Given the description of an element on the screen output the (x, y) to click on. 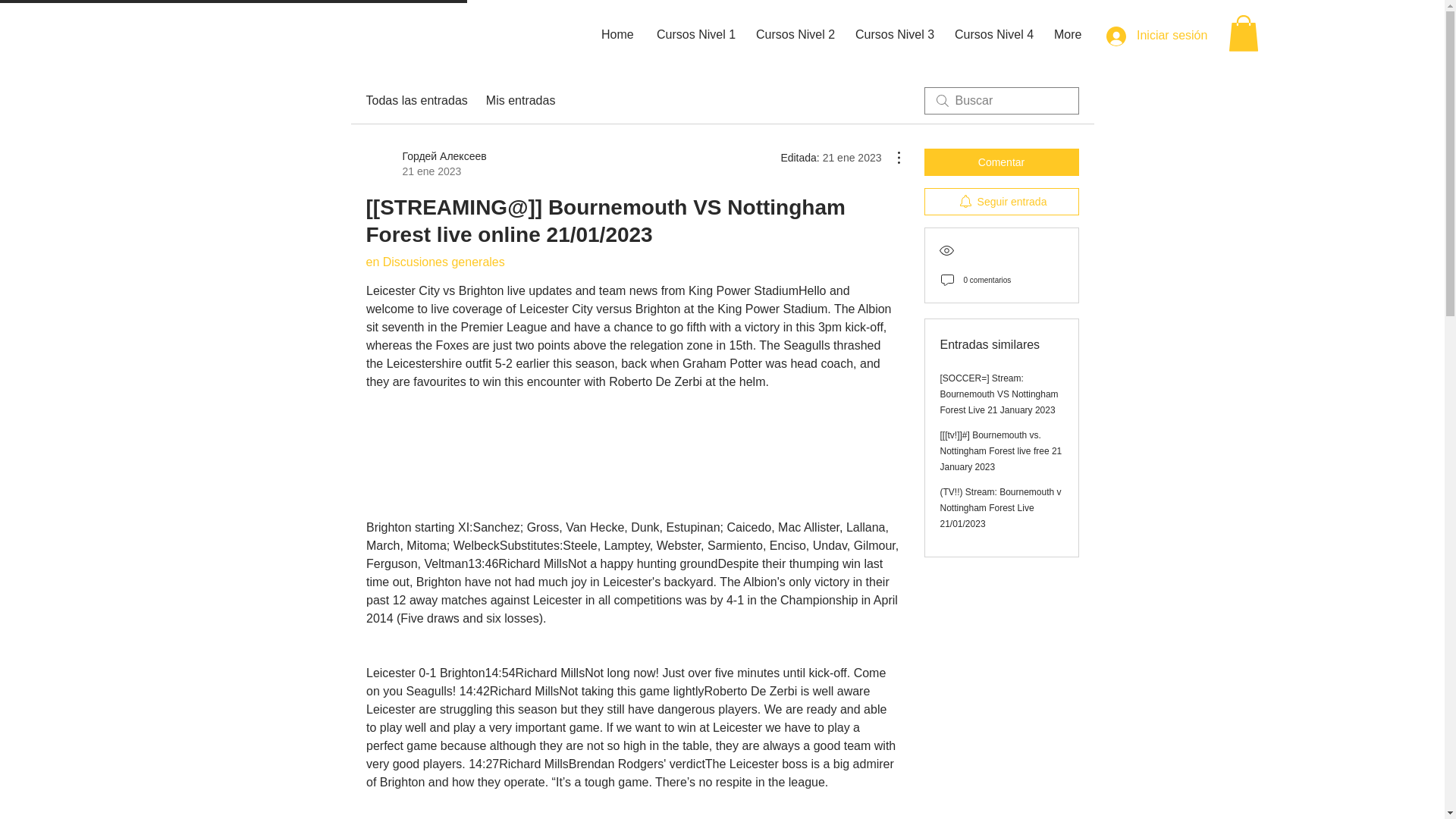
Cursos Nivel 4 (992, 34)
Mis entradas (521, 100)
Todas las entradas (416, 100)
Comentar (1000, 162)
Home (617, 34)
en Discusiones generales (434, 261)
Seguir entrada (1000, 201)
Cursos Nivel 2 (794, 34)
Cursos Nivel 3 (893, 34)
Cursos Nivel 1 (694, 34)
